Given the description of an element on the screen output the (x, y) to click on. 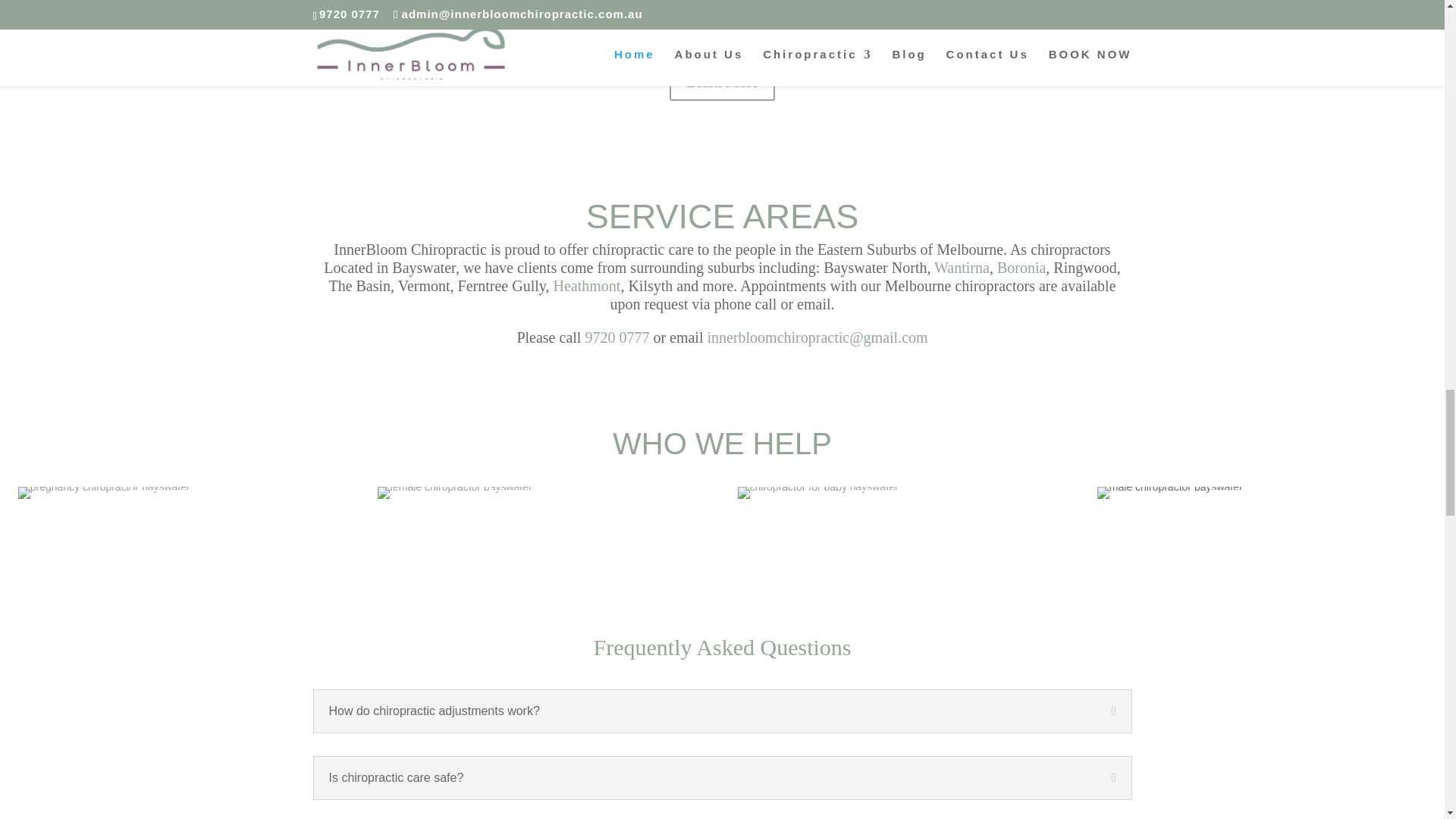
Learn More (721, 81)
chiropractor for baby bayswater (817, 492)
female chiropractor bayswater (454, 492)
Boronia (1021, 267)
Heathmont (587, 285)
child skills development (103, 492)
male chiropractor bayswater (1170, 492)
Wantirna (962, 267)
9720 0777 (617, 337)
